Given the description of an element on the screen output the (x, y) to click on. 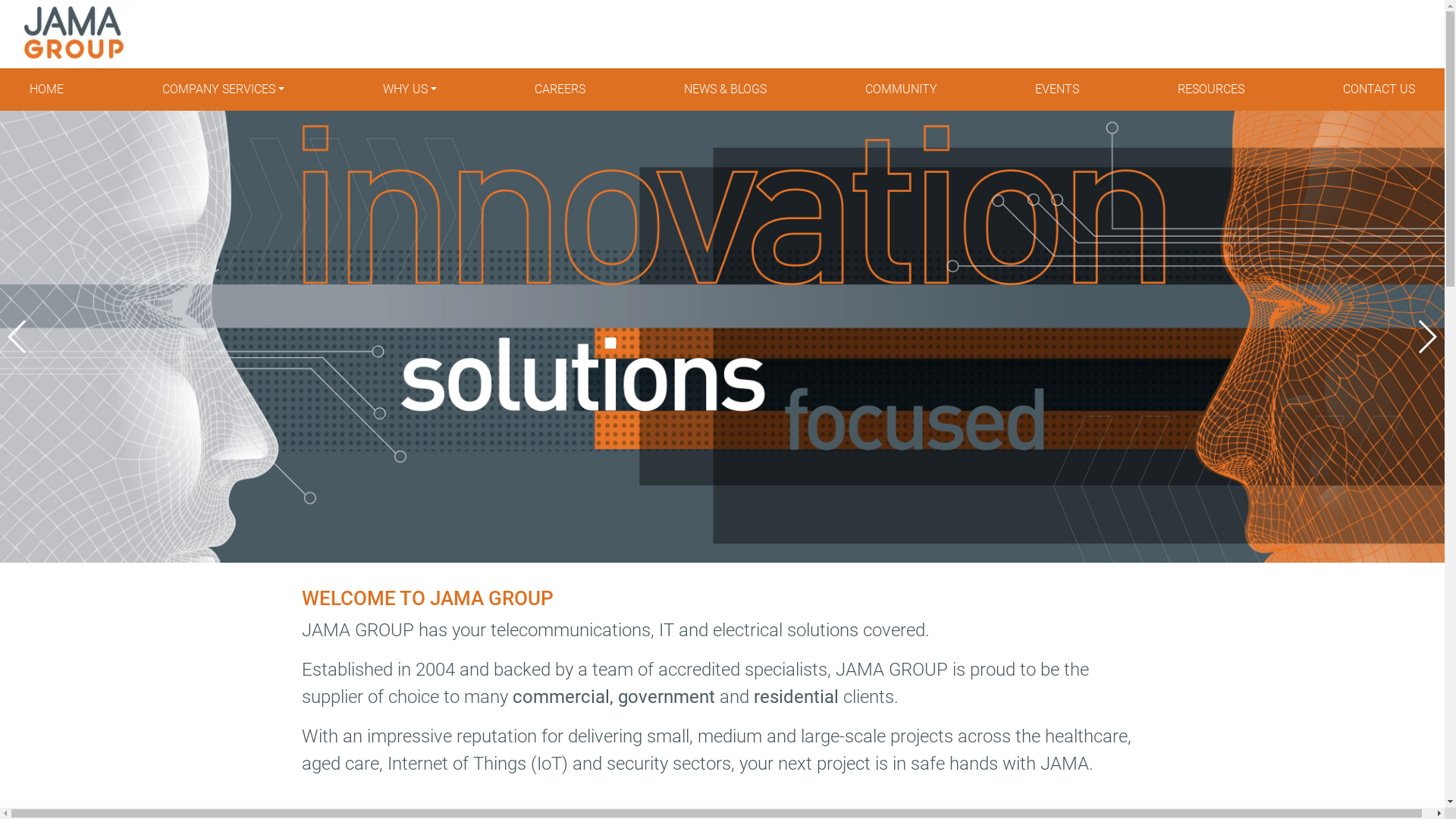
COMMUNITY Element type: text (901, 89)
RESOURCES Element type: text (1210, 89)
EVENTS Element type: text (1057, 89)
NEWS & BLOGS Element type: text (724, 89)
WHY US Element type: text (409, 89)
HOME Element type: text (46, 89)
CONTACT US Element type: text (1378, 89)
COMPANY SERVICES Element type: text (223, 89)
CAREERS Element type: text (559, 89)
